Given the description of an element on the screen output the (x, y) to click on. 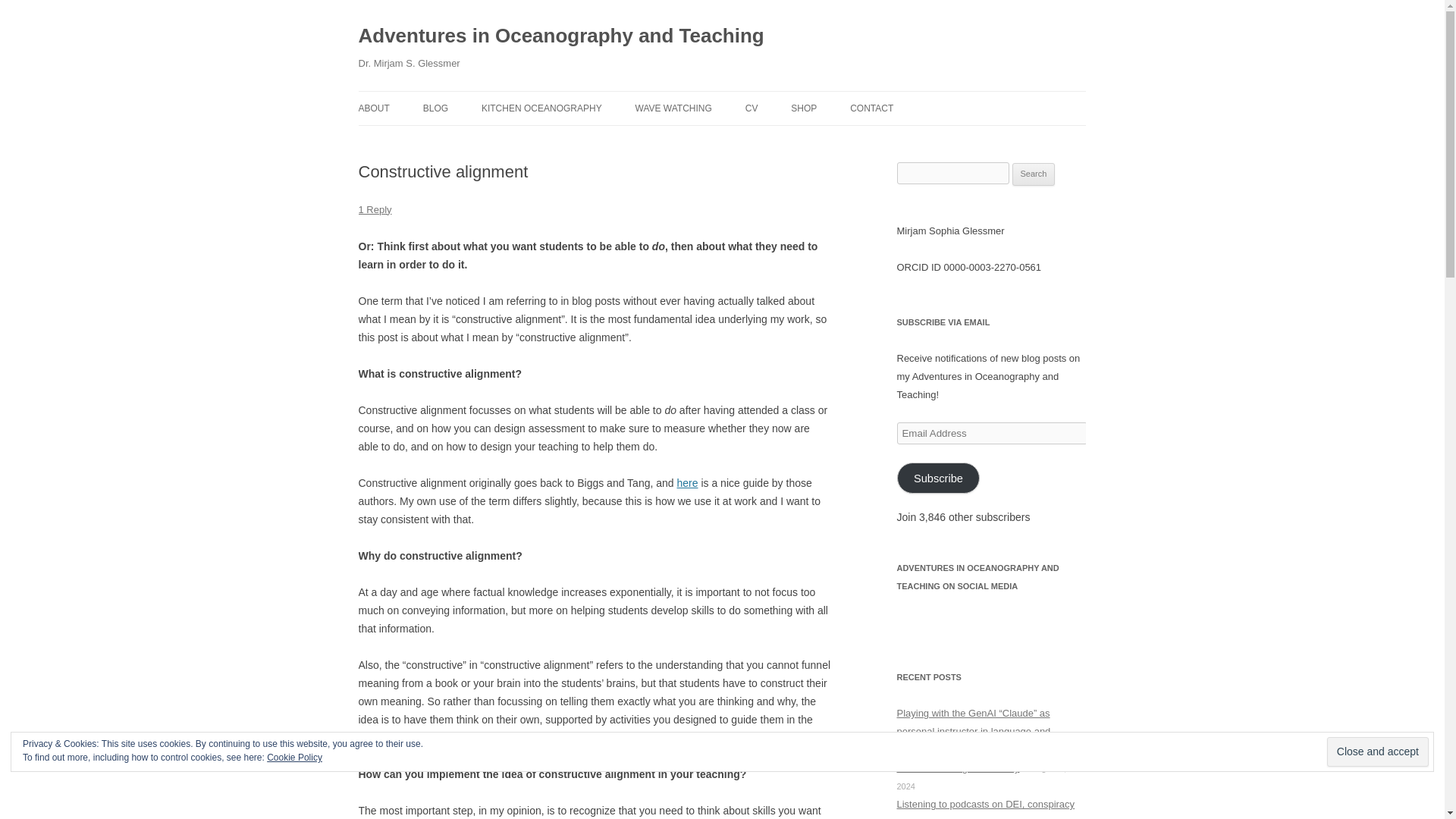
WAVE WATCHING (672, 108)
BLOG (499, 140)
ABOUT (373, 108)
CONTACT (871, 108)
Search (1033, 173)
KITCHEN OCEANOGRAPHY (541, 108)
here (687, 482)
1 Reply (374, 209)
Adventures in Oceanography and Teaching (560, 36)
